Given the description of an element on the screen output the (x, y) to click on. 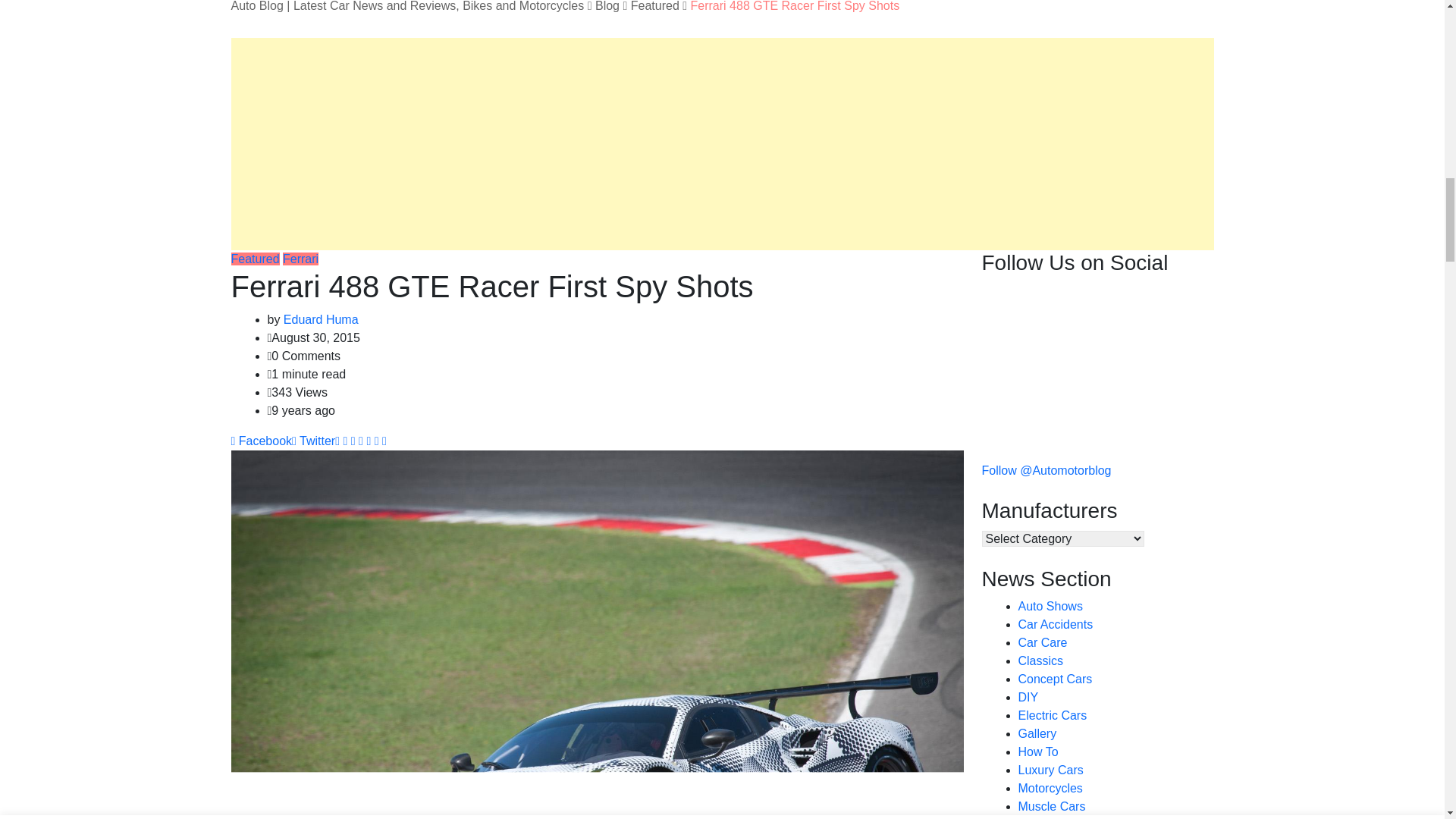
Posts by Eduard Huma (320, 318)
Go to Blog. (607, 6)
Go to the Featured Category archives. (654, 6)
